Given the description of an element on the screen output the (x, y) to click on. 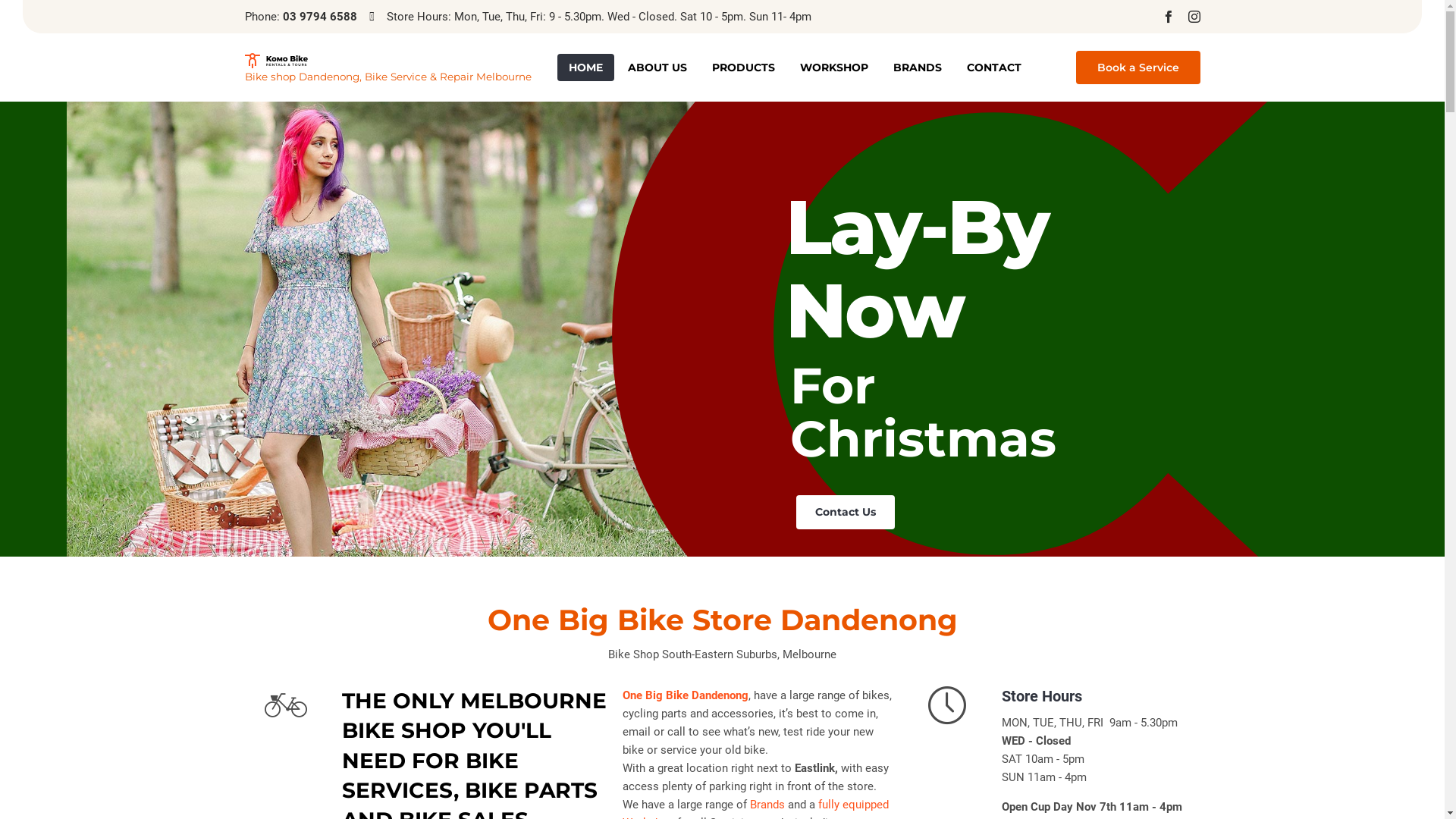
BRANDS Element type: text (916, 67)
WORKSHOP Element type: text (833, 67)
One Big Bike Store Element type: hover (387, 60)
One Big Bike Dandenong Element type: text (685, 695)
Skip to content Element type: text (1060, 53)
PRODUCTS Element type: text (743, 67)
ABOUT US Element type: text (656, 67)
Book a Service Element type: text (1137, 67)
HOME Element type: text (584, 67)
Brands Element type: text (766, 804)
CONTACT Element type: text (993, 67)
